Given the description of an element on the screen output the (x, y) to click on. 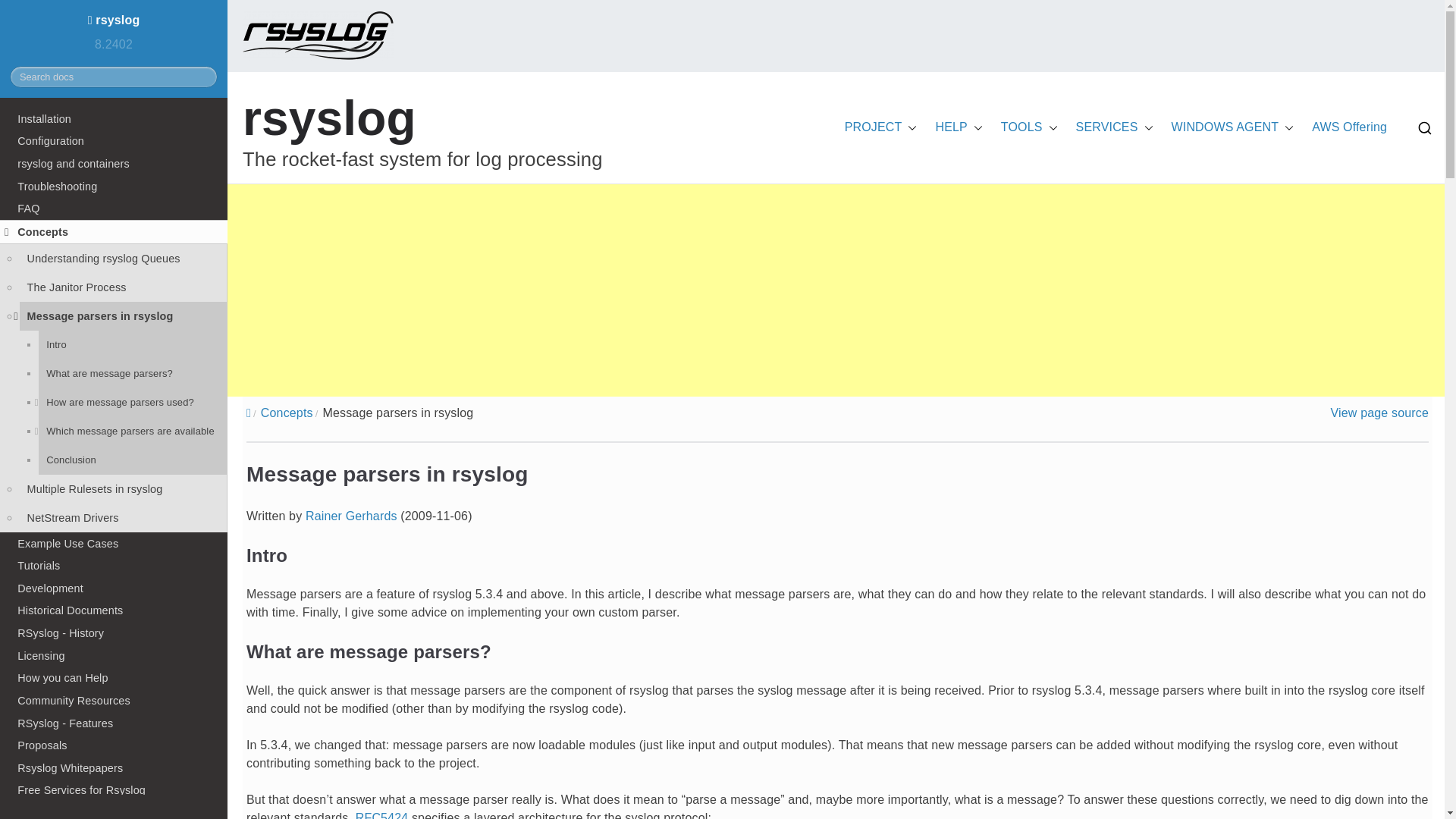
Search (26, 12)
AWS Offering (1349, 127)
SERVICES (1114, 127)
TOOLS (1029, 127)
HELP (957, 127)
WINDOWS AGENT (1233, 127)
rsyslog (329, 117)
PROJECT (880, 127)
